Given the description of an element on the screen output the (x, y) to click on. 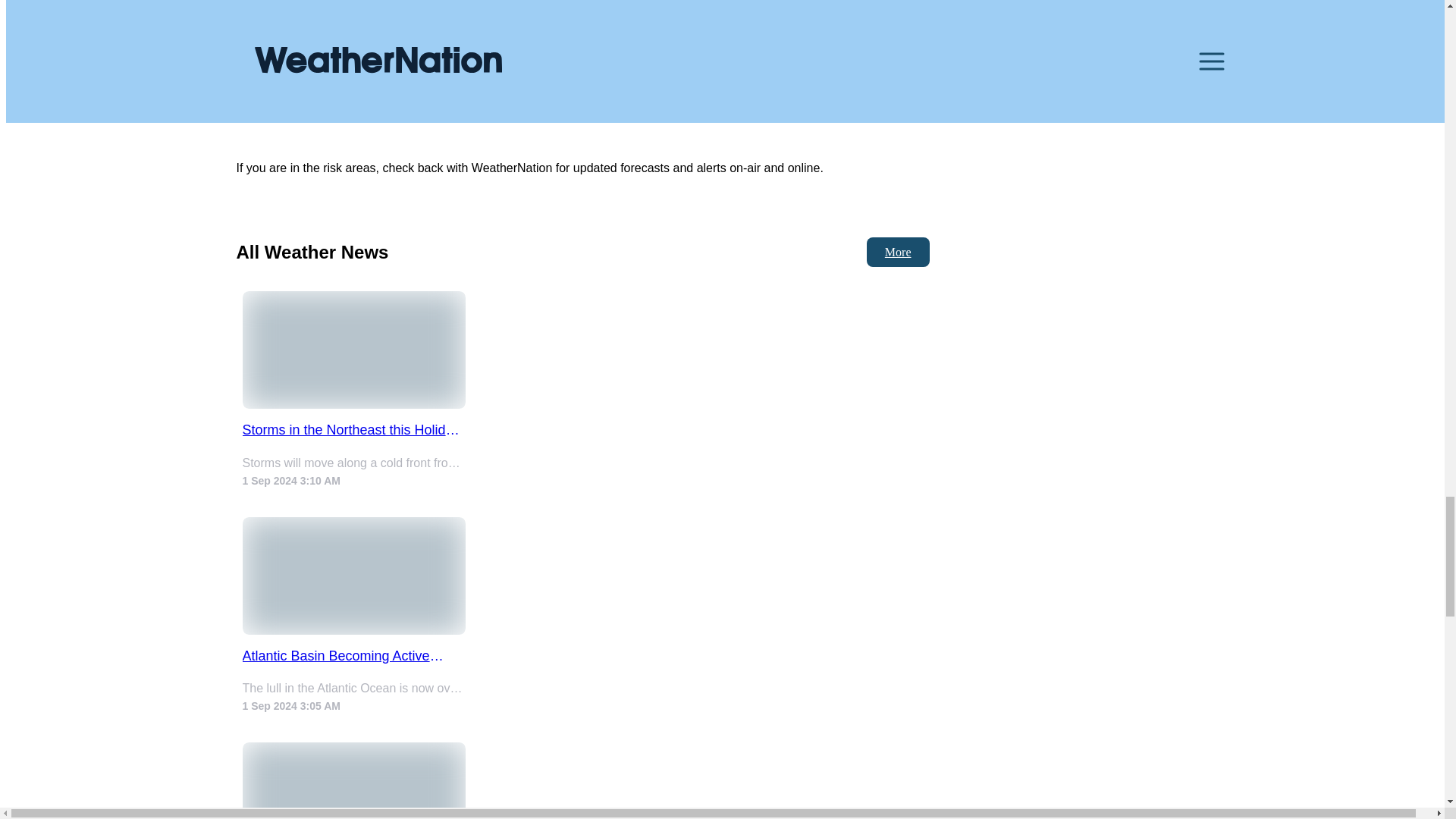
Atlantic Basin Becoming Active Again (354, 655)
Storms in the Northeast this Holiday Weekend (354, 430)
More (898, 251)
